Given the description of an element on the screen output the (x, y) to click on. 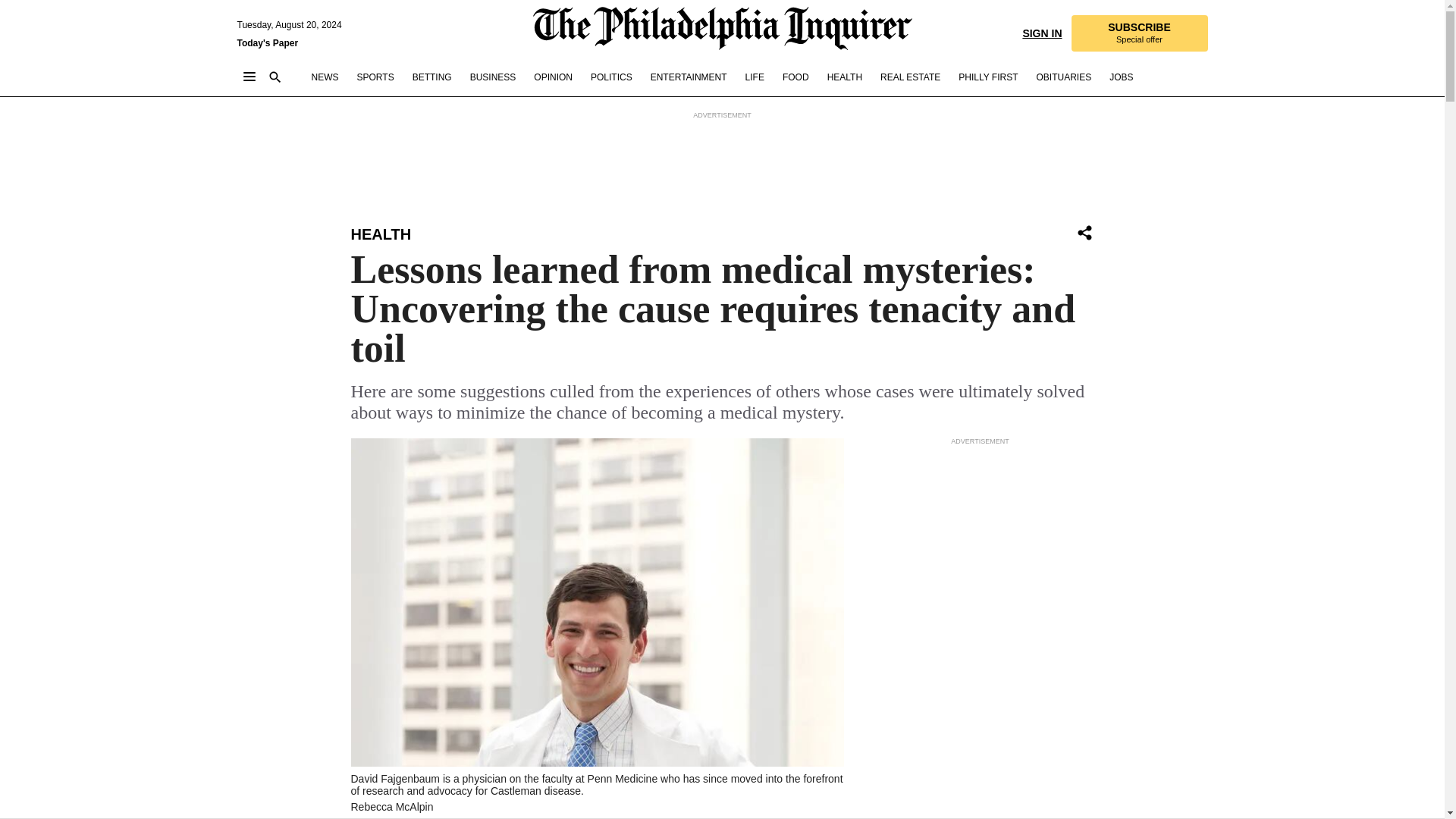
SPORTS (375, 77)
Health (380, 234)
Share Icon (1084, 232)
ENTERTAINMENT (688, 77)
NEWS (325, 77)
OBITUARIES (1062, 77)
FOOD (796, 77)
POLITICS (611, 77)
HEALTH (844, 77)
SIGN IN (1041, 32)
